Given the description of an element on the screen output the (x, y) to click on. 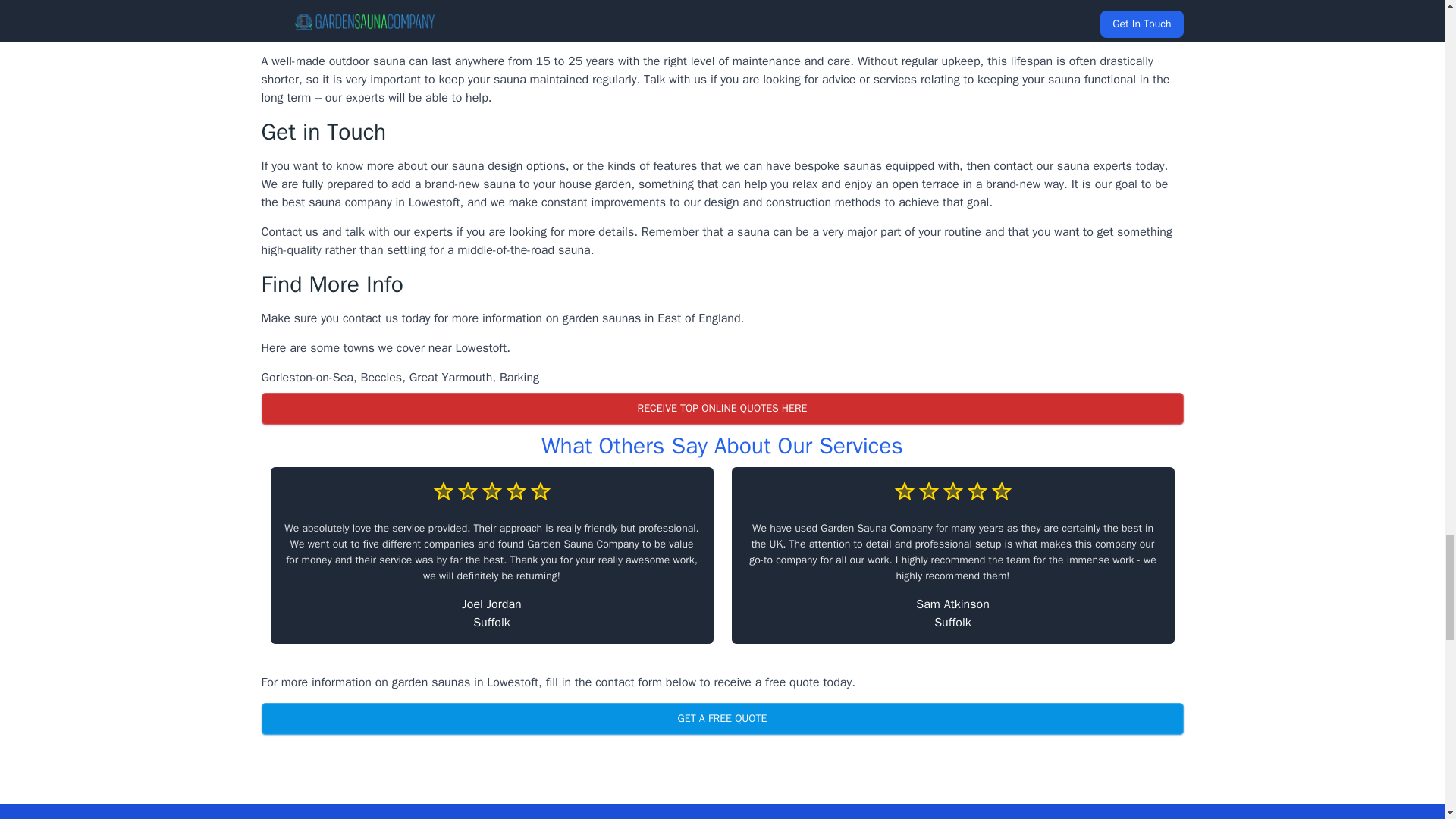
Barking (518, 377)
Gorleston-on-Sea (306, 377)
RECEIVE TOP ONLINE QUOTES HERE (721, 409)
Great Yarmouth (451, 377)
Beccles (382, 377)
